Given the description of an element on the screen output the (x, y) to click on. 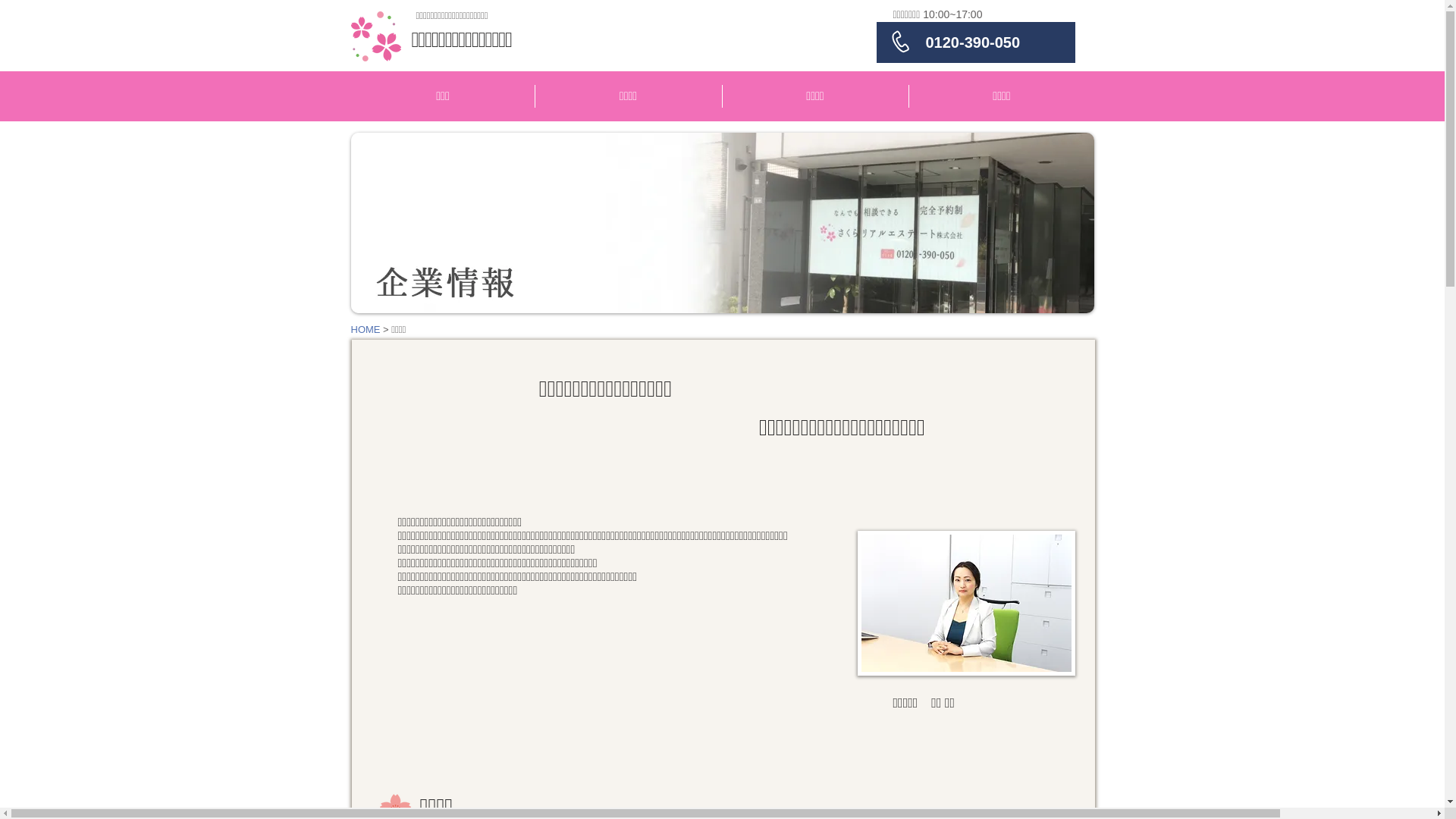
HOME Element type: text (364, 329)
